Given the description of an element on the screen output the (x, y) to click on. 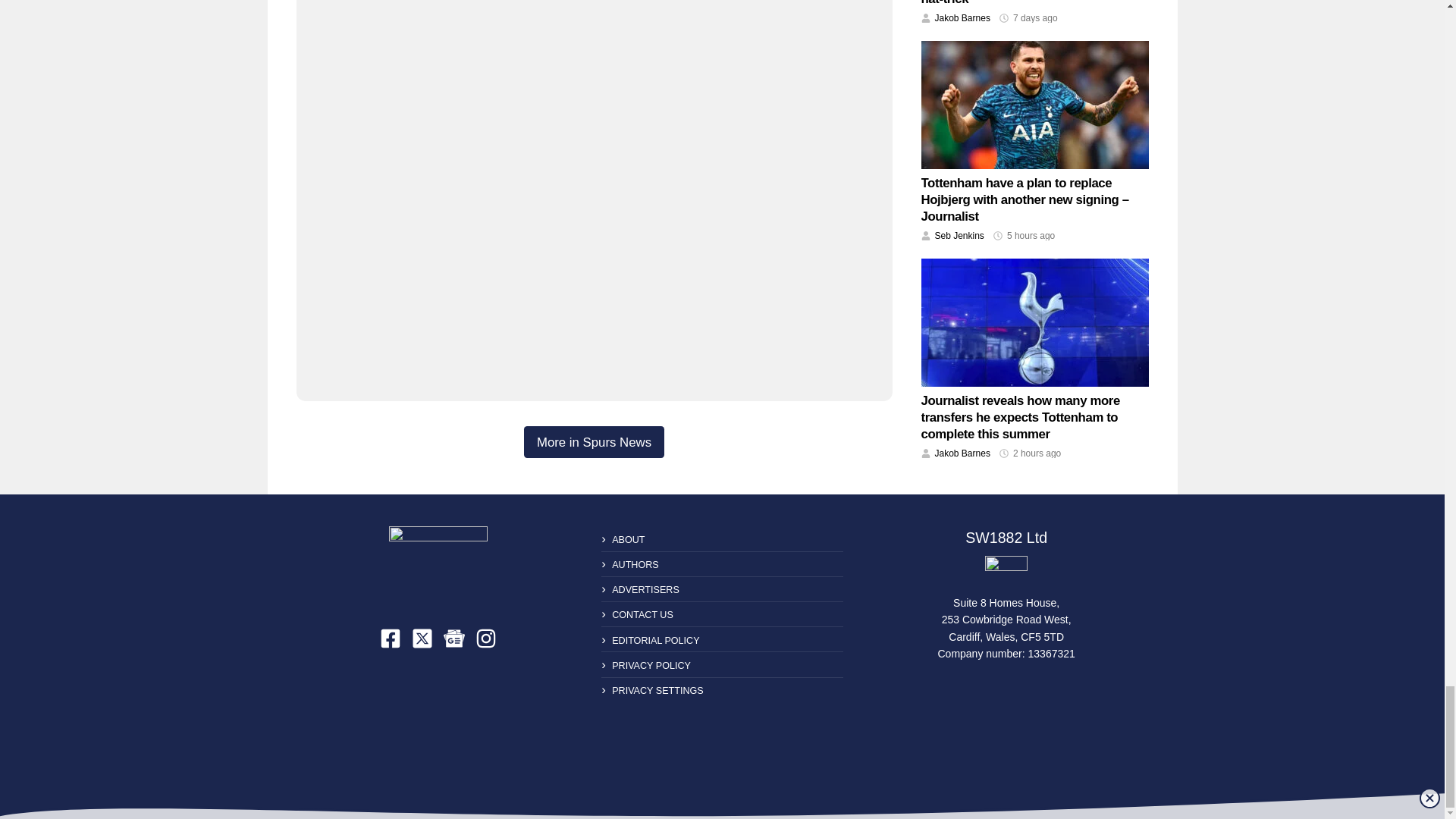
The Spurs Web - Tottenham Hotspur Football News on X (422, 638)
The Spurs Web - Tottenham Hotspur Football News on Instagram (486, 638)
The Spurs Web - Tottenham Hotspur Football News on Facebook (390, 638)
Spurs Web (1005, 572)
The Spurs Web - Tottenham Hotspur Football News (438, 564)
More in Spurs News (593, 441)
